Given the description of an element on the screen output the (x, y) to click on. 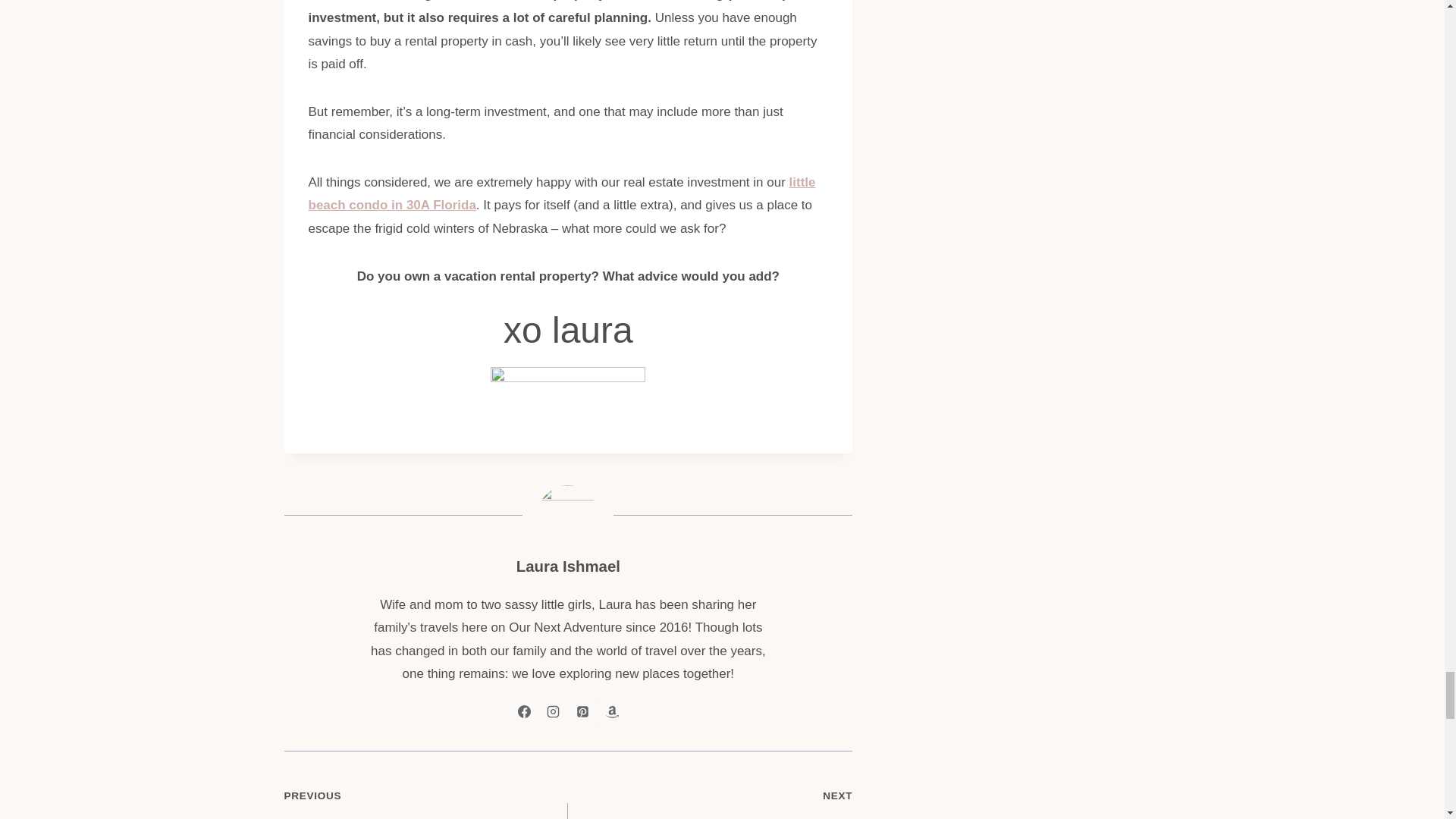
Follow Laura Ishmael on Instagram (553, 711)
little beach condo in 30A Florida (561, 193)
Follow Laura Ishmael on Facebook (524, 711)
Follow Laura Ishmael on Amazon (611, 711)
Follow Laura Ishmael on Pinterest (582, 711)
Laura Ishmael (568, 565)
Posts by Laura Ishmael (709, 801)
